Given the description of an element on the screen output the (x, y) to click on. 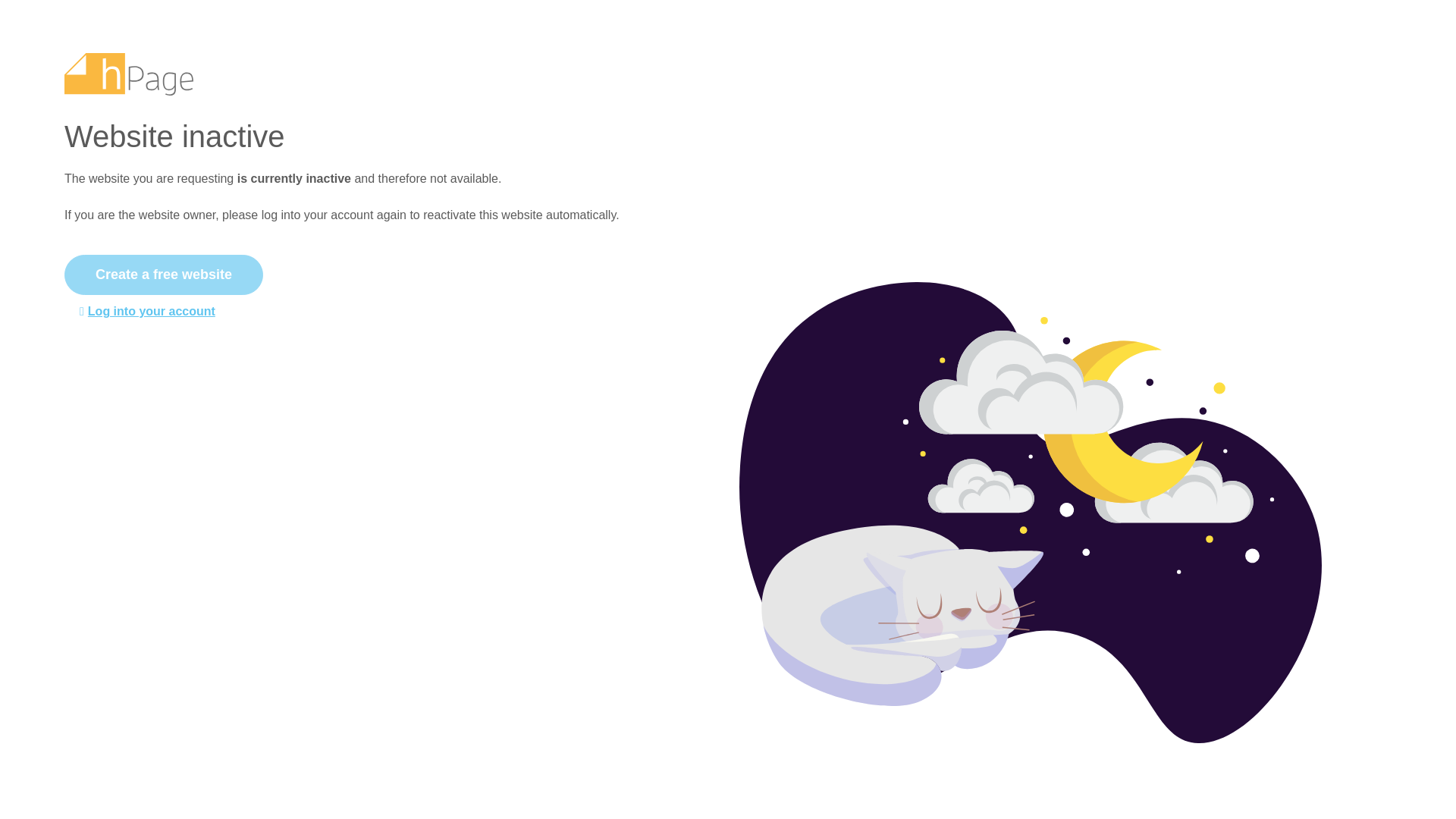
Create a free website (163, 274)
Log into your account (371, 311)
Create a free website (163, 273)
